Given the description of an element on the screen output the (x, y) to click on. 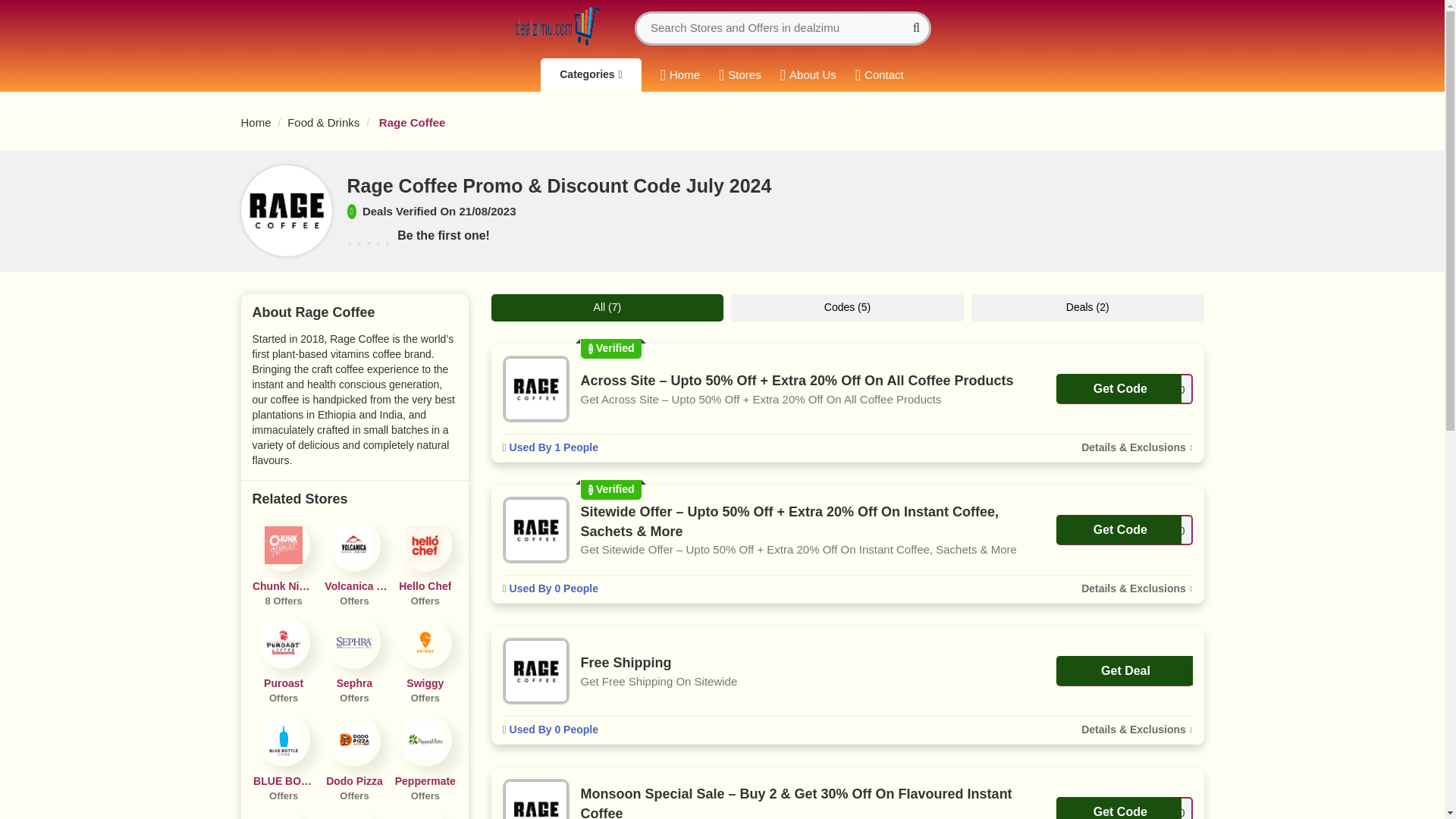
WOW!!! (354, 815)
Categories (282, 563)
Home (282, 758)
Excellent (425, 758)
Good (387, 236)
Contact (282, 815)
Rage Coffee (590, 74)
